Given the description of an element on the screen output the (x, y) to click on. 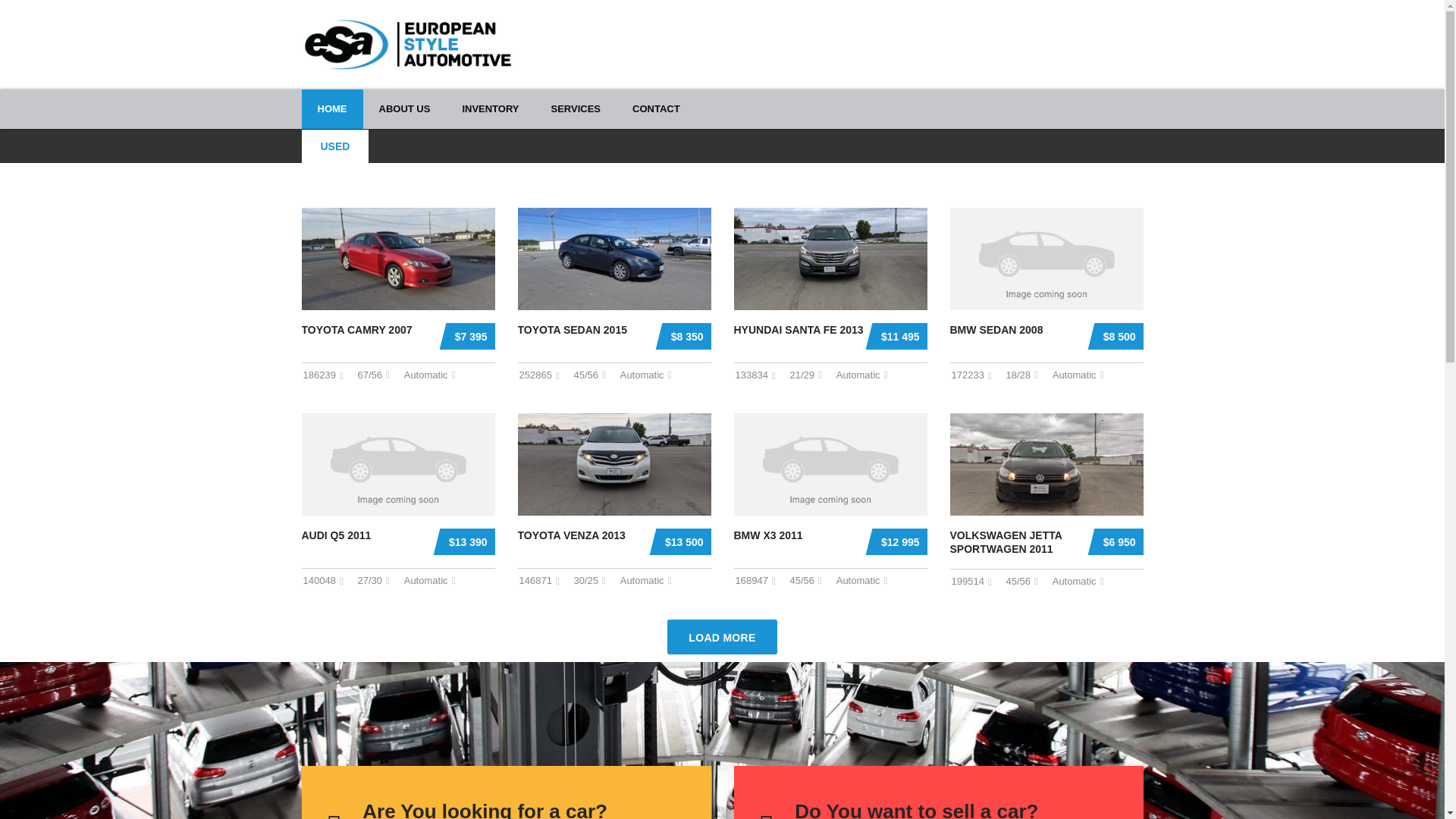
LOAD MORE (506, 792)
INVENTORY (721, 636)
USED (489, 108)
Home (335, 145)
SERVICES (408, 43)
HOME (576, 108)
CONTACT (331, 108)
ABOUT US (655, 108)
